Given the description of an element on the screen output the (x, y) to click on. 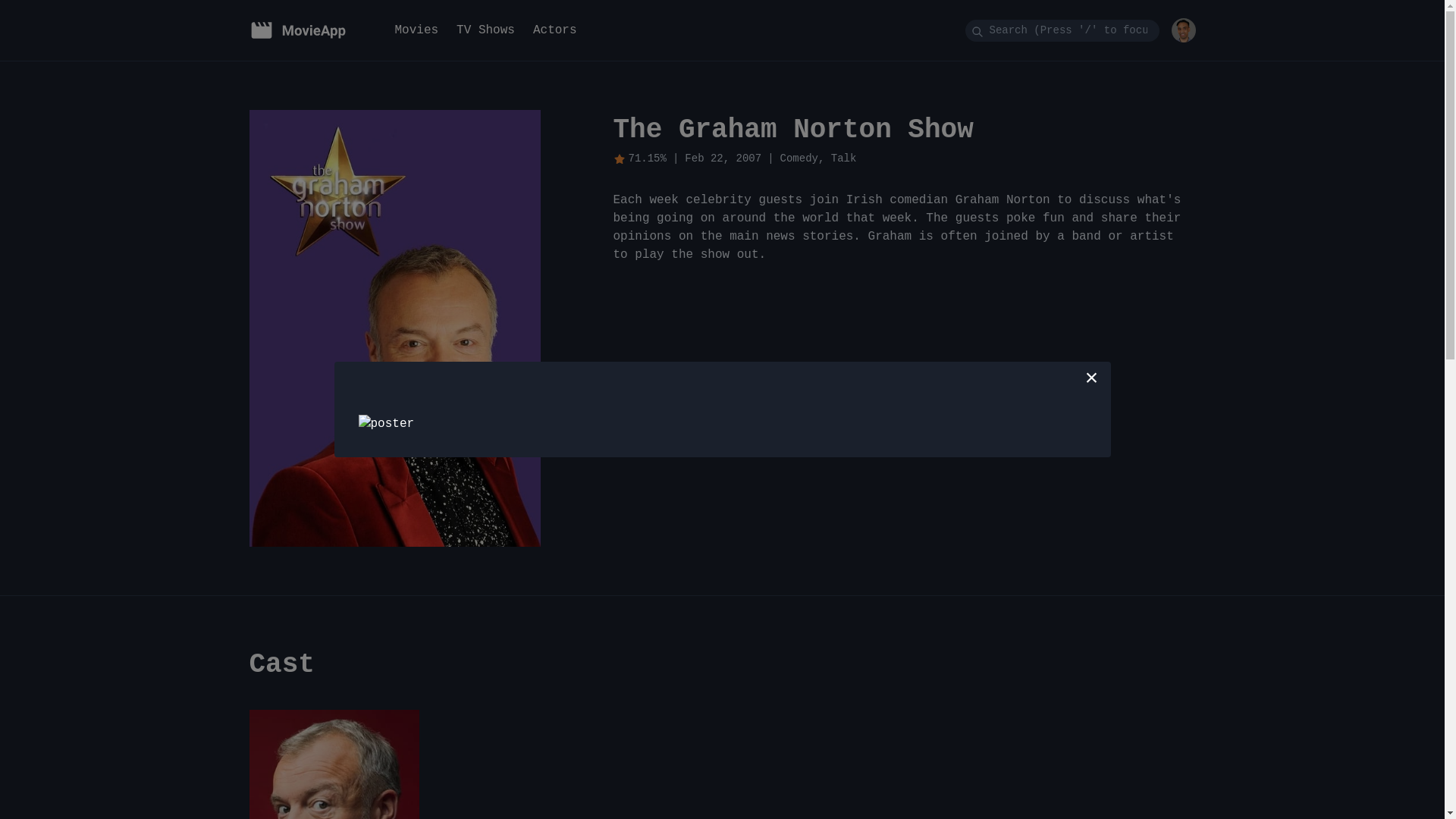
Actors Element type: text (555, 30)
TV Shows Element type: text (485, 30)
Movies Element type: text (416, 30)
